Given the description of an element on the screen output the (x, y) to click on. 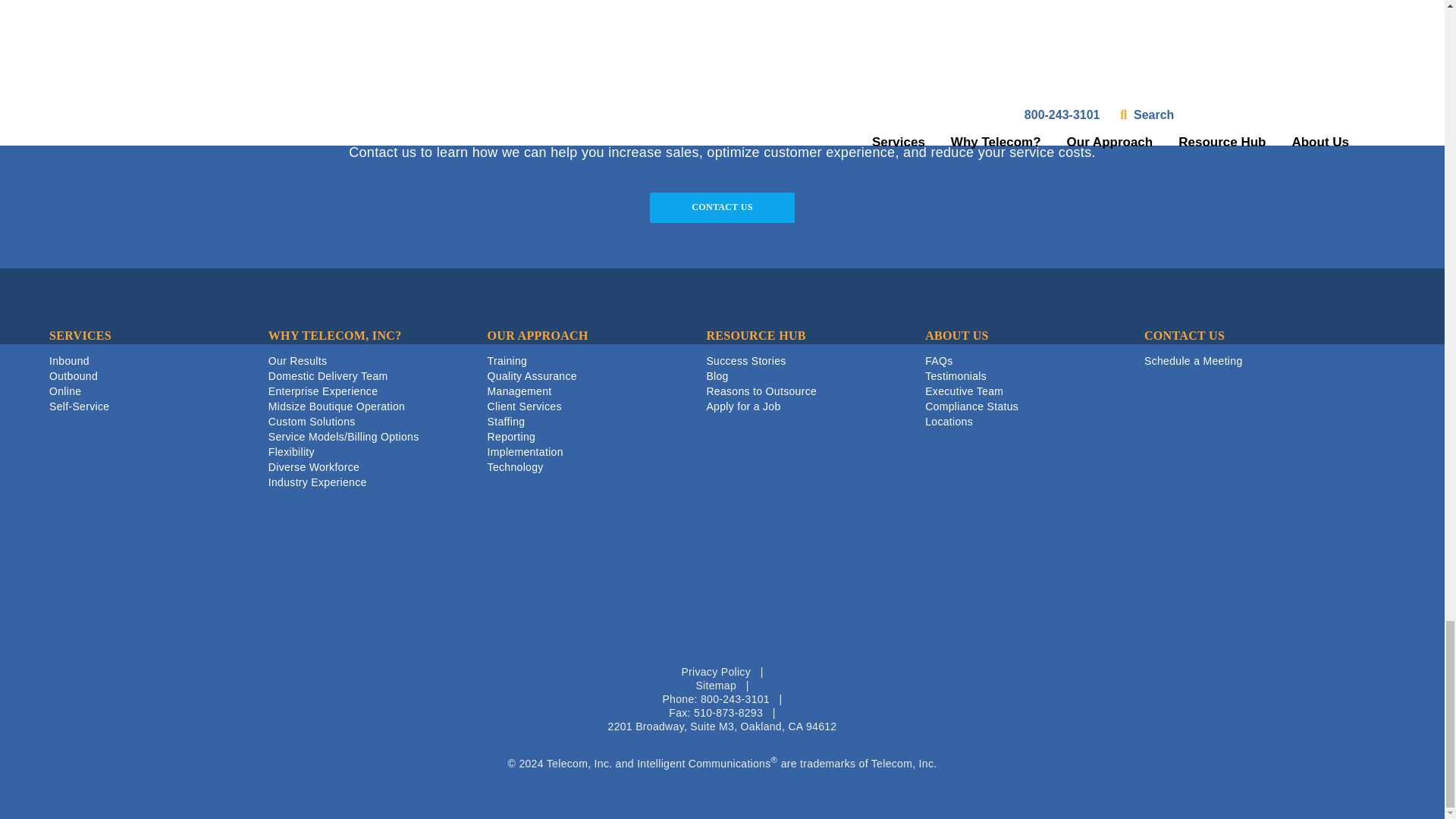
Privacy Policy (716, 671)
UpCity (722, 643)
Sitemap (715, 685)
